Given the description of an element on the screen output the (x, y) to click on. 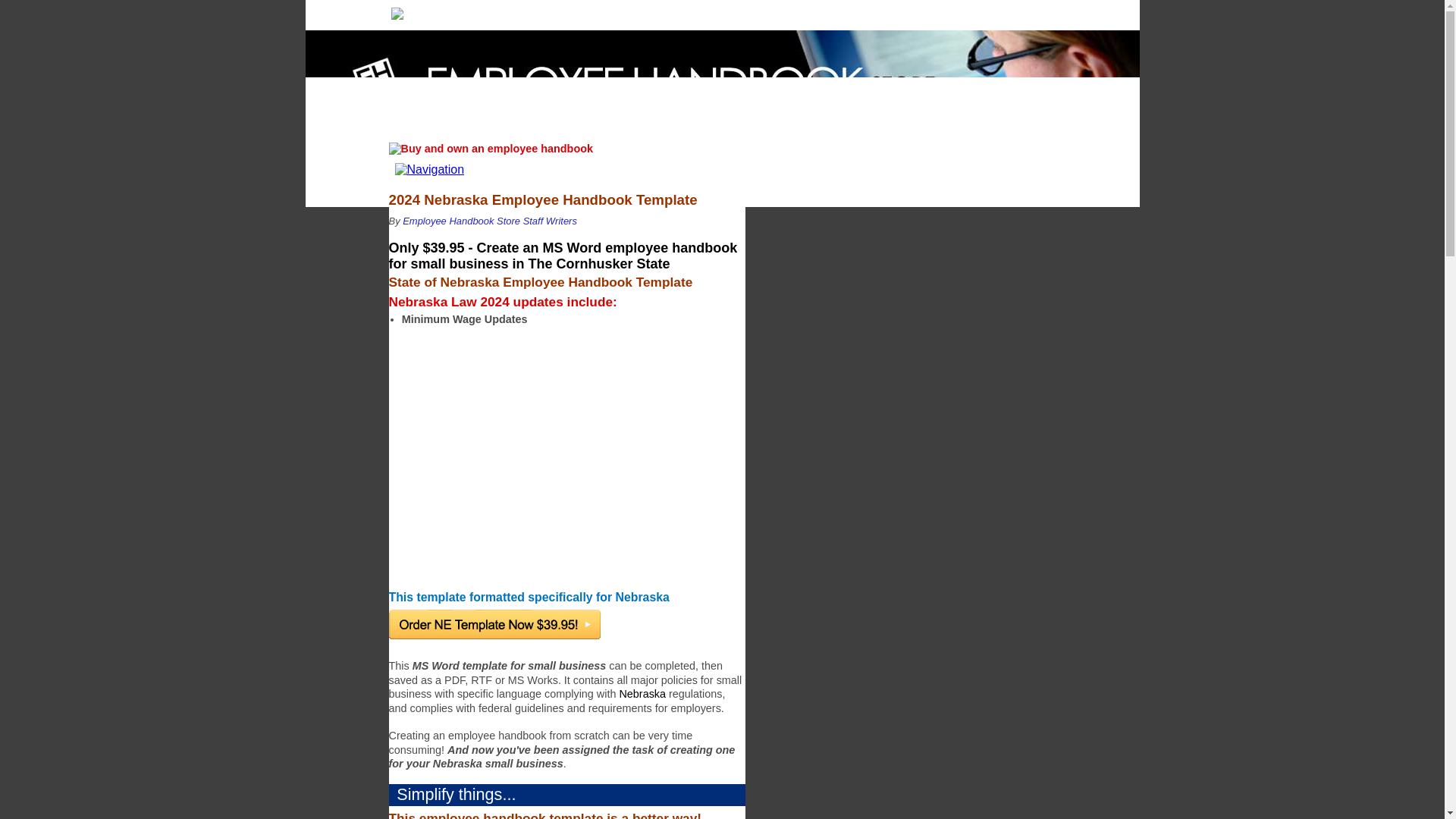
Why Employee Handbooks (515, 12)
Sample Policies (877, 12)
Sample (671, 12)
Order By State (615, 12)
Employee Breaks Policy (952, 12)
Table of Contents (1020, 12)
Employee Handbook Template (812, 12)
Why Employee Handbooks (515, 12)
Email-Texting (735, 12)
Policies (877, 12)
